Given the description of an element on the screen output the (x, y) to click on. 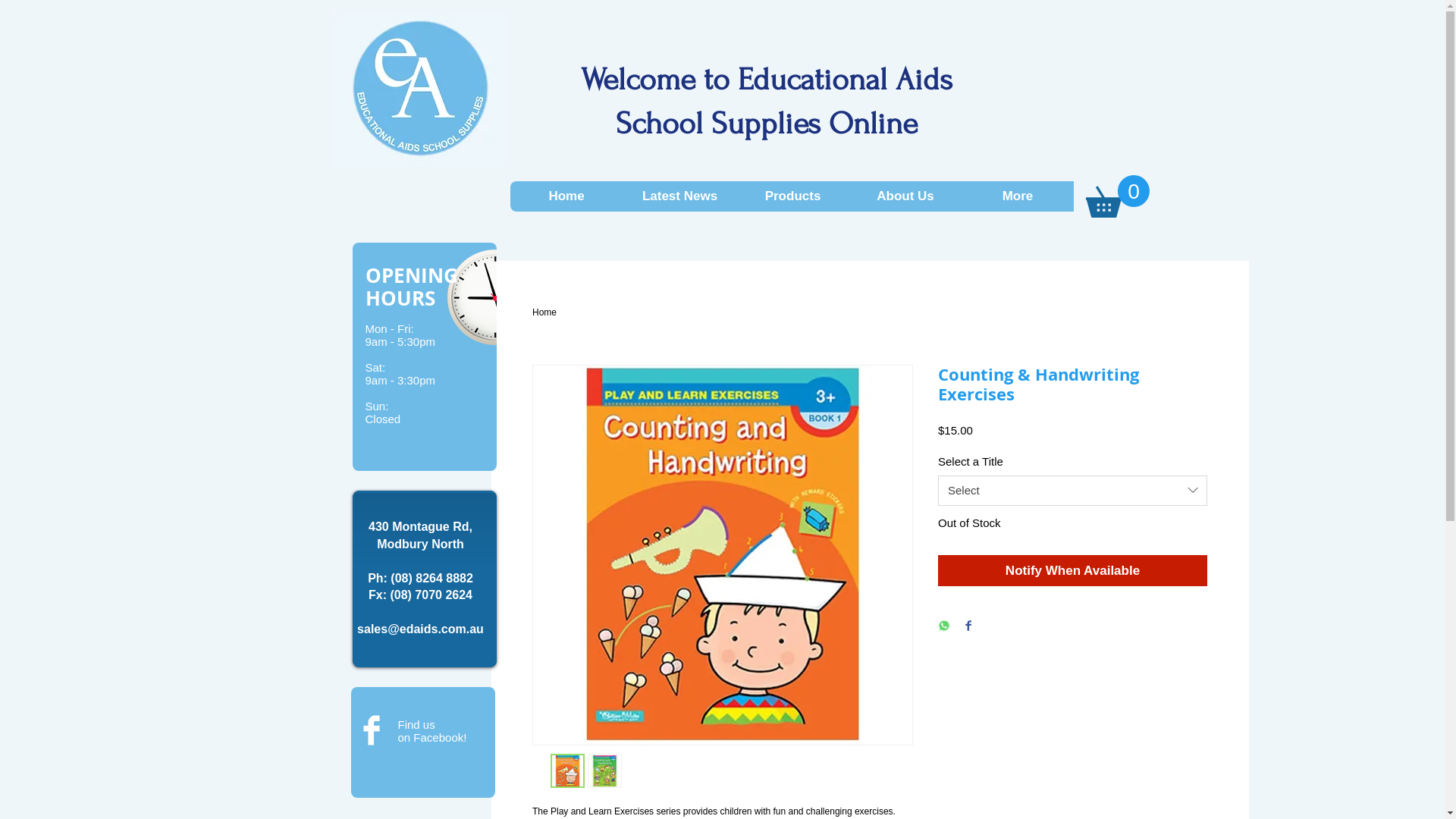
Home Element type: text (544, 312)
0 Element type: text (1117, 196)
Notify When Available Element type: text (1072, 570)
Products Element type: text (791, 196)
Home Element type: text (565, 196)
sales@edaids.com.au Element type: text (420, 628)
Latest News Element type: text (679, 196)
Educational Aids School Supplies Element type: hover (421, 87)
About Us Element type: text (905, 196)
Select Element type: text (1072, 490)
